Given the description of an element on the screen output the (x, y) to click on. 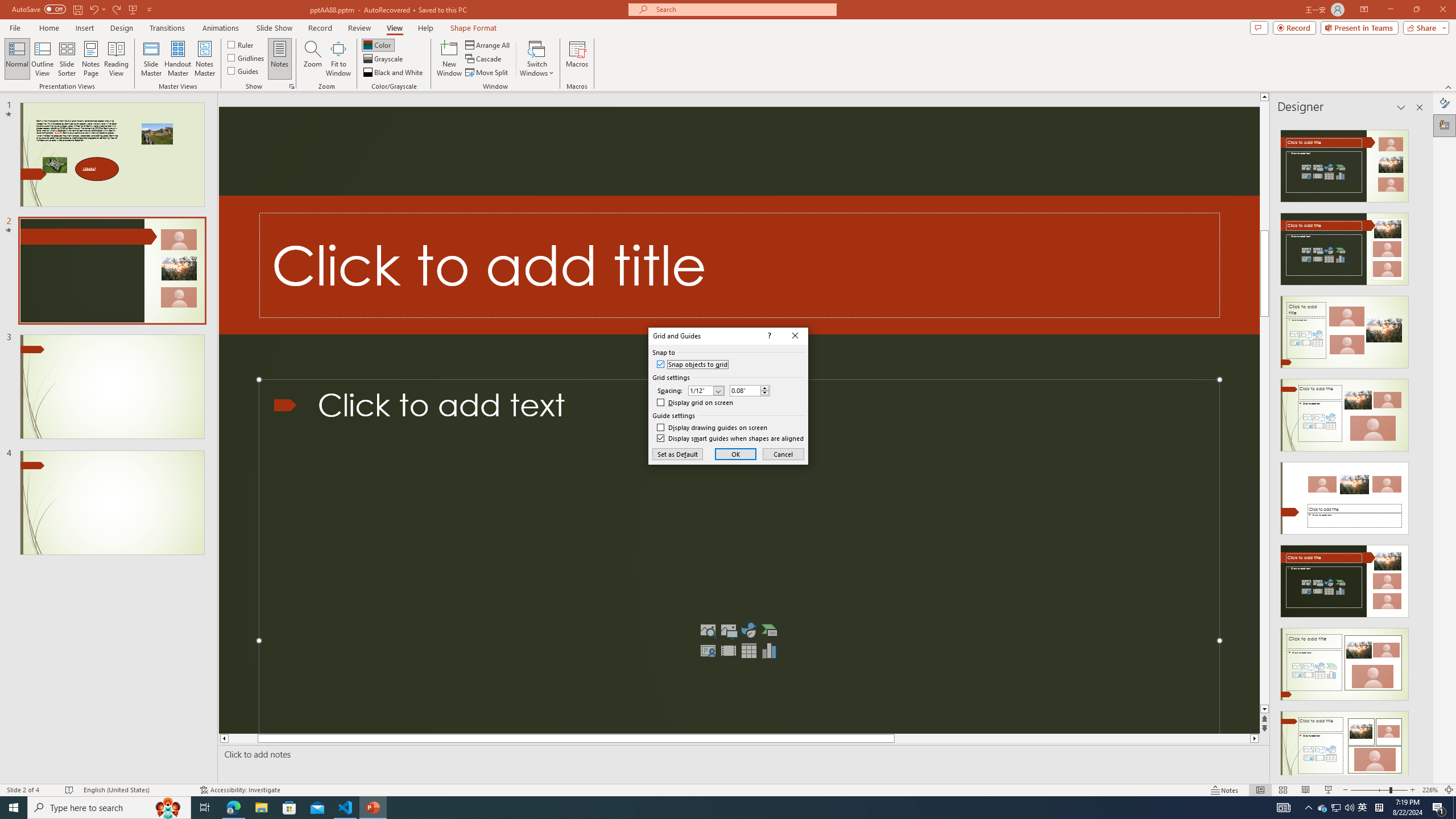
Insert an Icon (748, 629)
OK (735, 453)
Cascade (484, 58)
Display drawing guides on screen (712, 427)
Macros (576, 58)
Recommended Design: Design Idea (1344, 162)
